Given the description of an element on the screen output the (x, y) to click on. 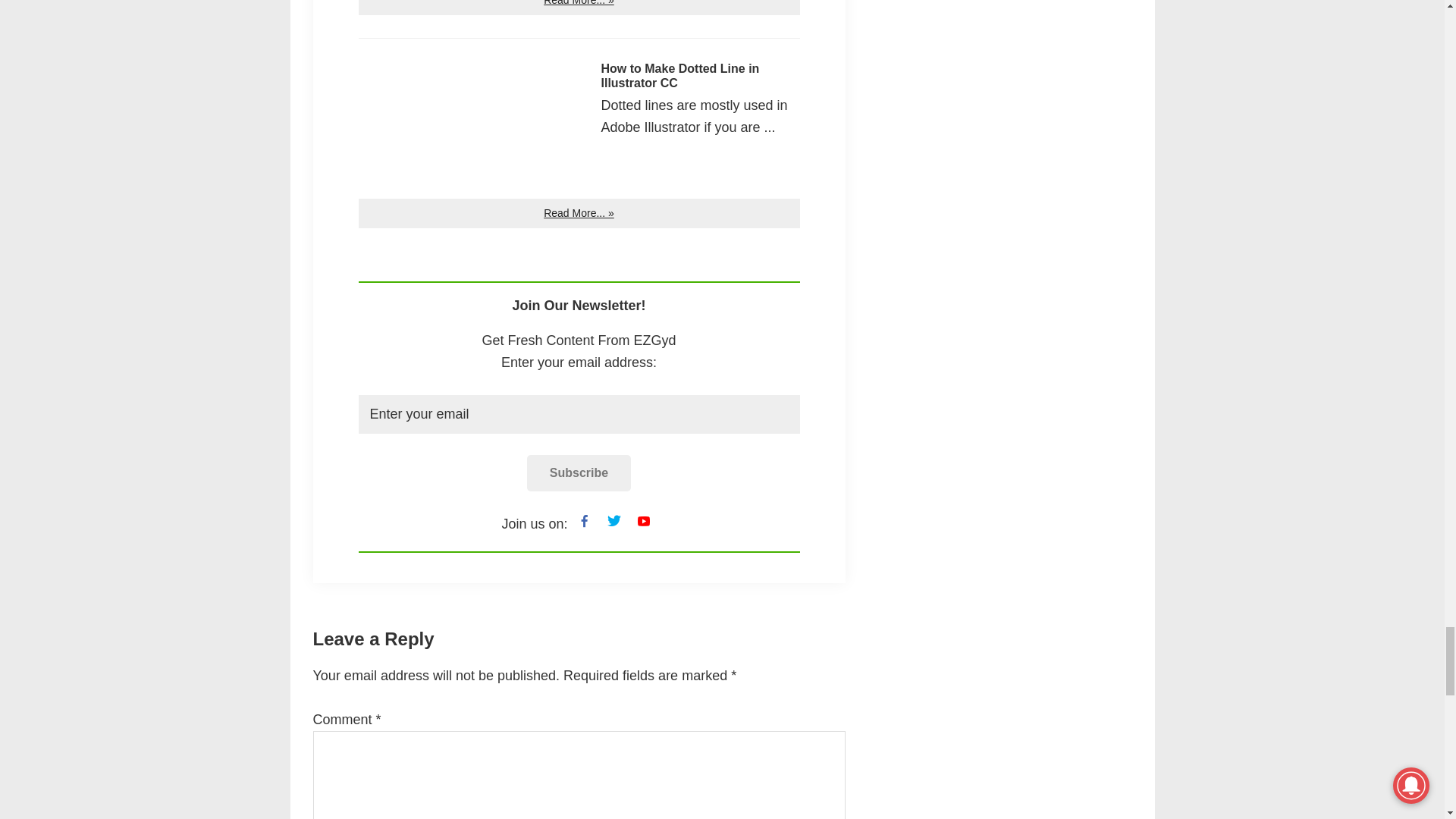
Subscribe (578, 473)
